Given the description of an element on the screen output the (x, y) to click on. 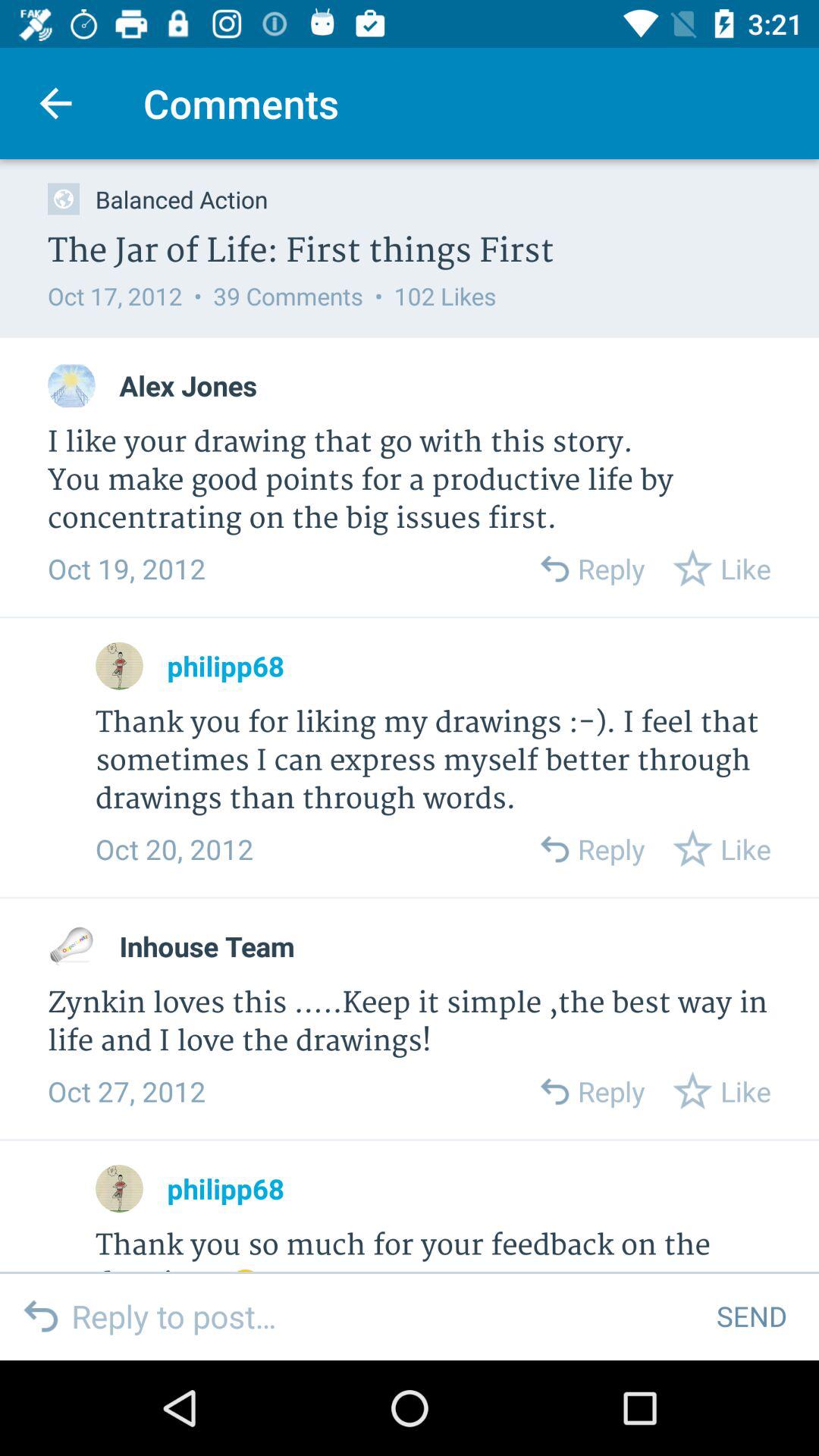
jump to the i like your icon (409, 480)
